Given the description of an element on the screen output the (x, y) to click on. 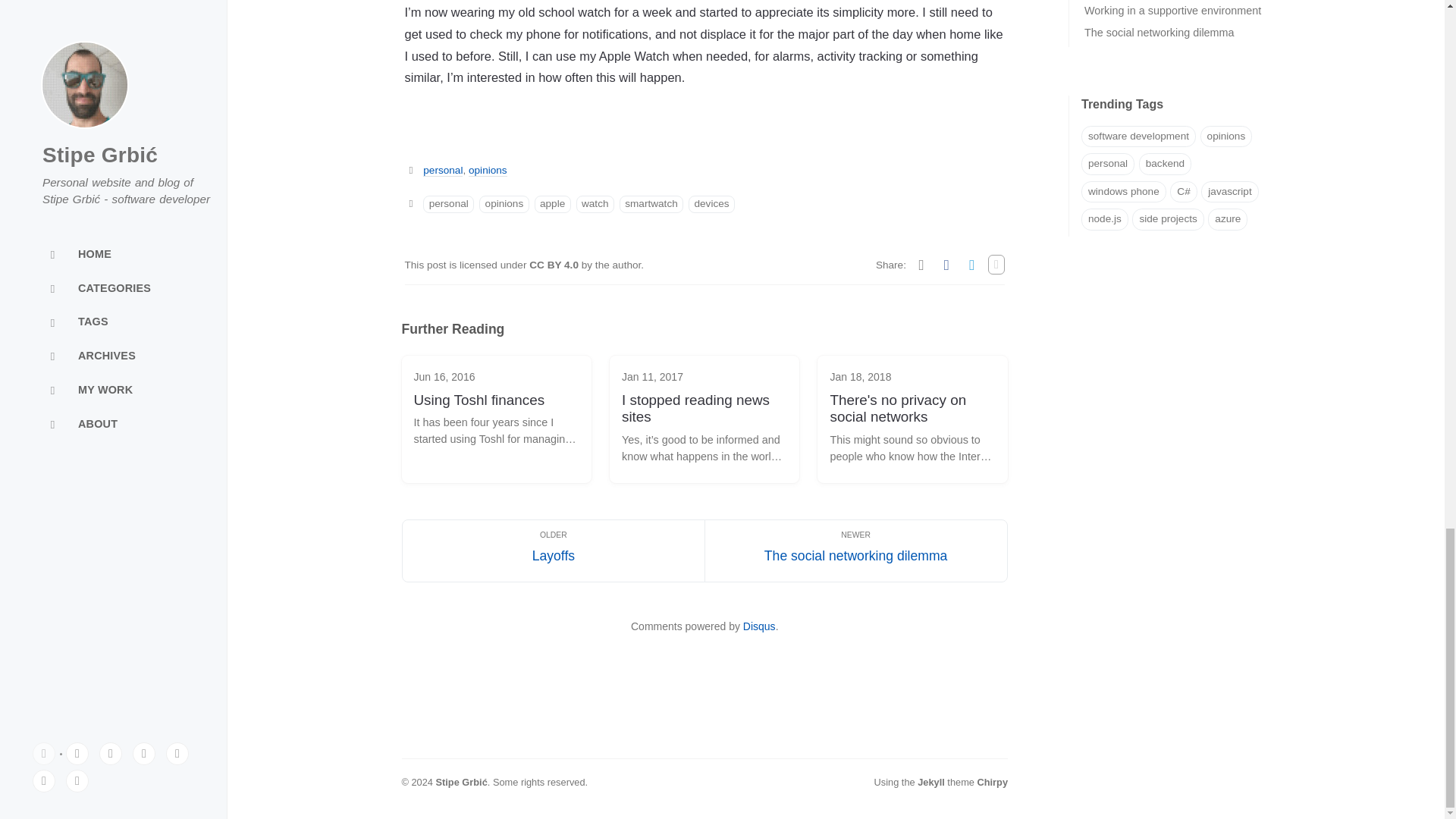
personal (448, 203)
devices (711, 203)
apple (552, 203)
opinions (503, 203)
opinions (487, 170)
CC BY 4.0 (554, 265)
smartwatch (651, 203)
watch (595, 203)
personal (443, 170)
